Given the description of an element on the screen output the (x, y) to click on. 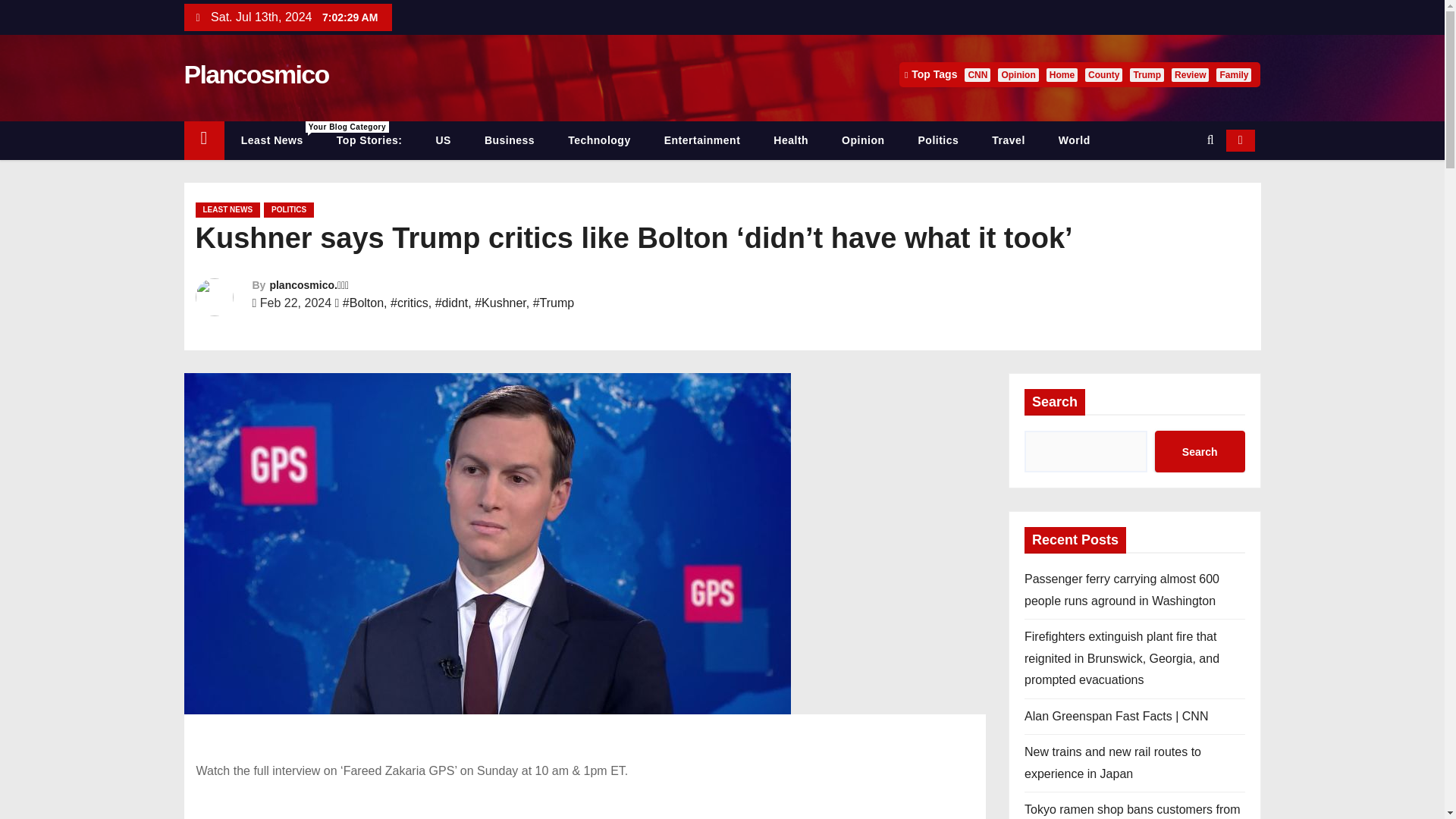
Top Stories: (369, 140)
Trump (1146, 74)
Politics (938, 140)
US (443, 140)
Plancosmico (256, 73)
US (443, 140)
World (1074, 140)
Health (791, 140)
Entertainment (702, 140)
Technology (599, 140)
Travel (1008, 140)
LEAST NEWS (227, 209)
Health (791, 140)
POLITICS (288, 209)
Opinion (1017, 74)
